Given the description of an element on the screen output the (x, y) to click on. 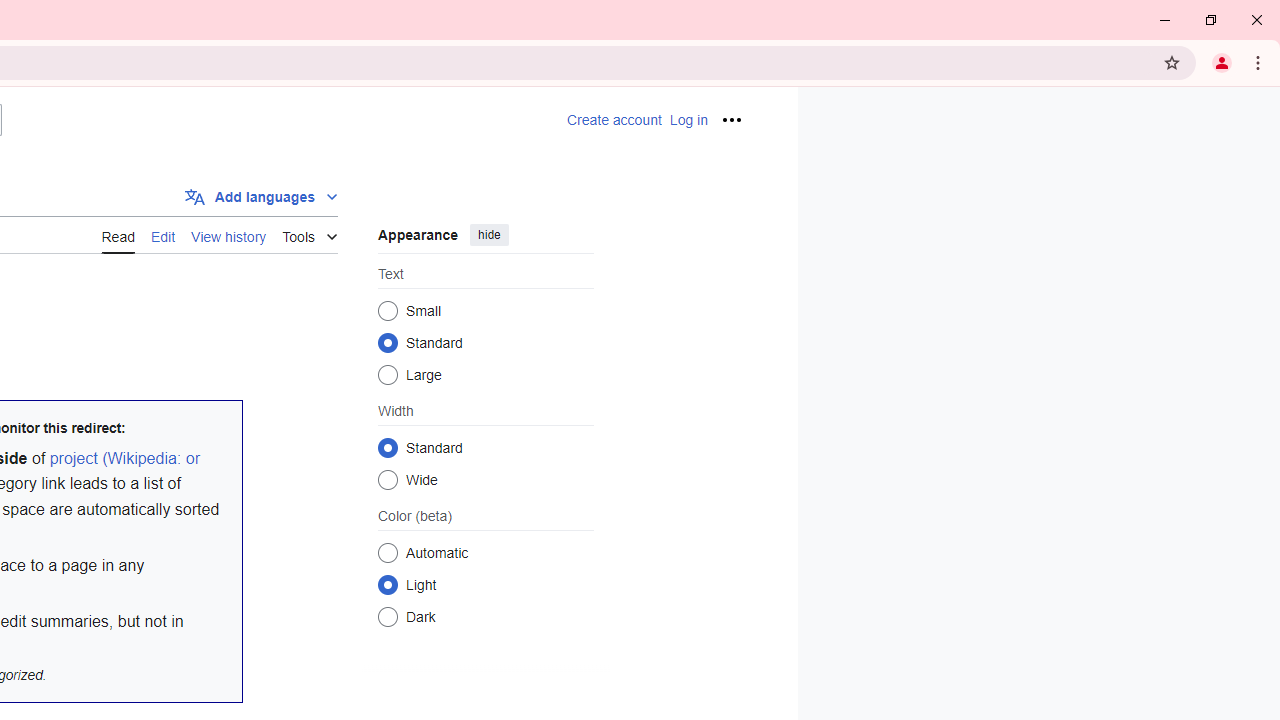
AutomationID: ca-history (228, 234)
You (1221, 62)
Large (387, 374)
Log in (688, 120)
View history (228, 235)
Standard (387, 447)
Personal tools (731, 119)
Chrome (1260, 62)
Dark (387, 616)
Edit (162, 235)
Restore (1210, 20)
AutomationID: ca-edit (162, 234)
